Given the description of an element on the screen output the (x, y) to click on. 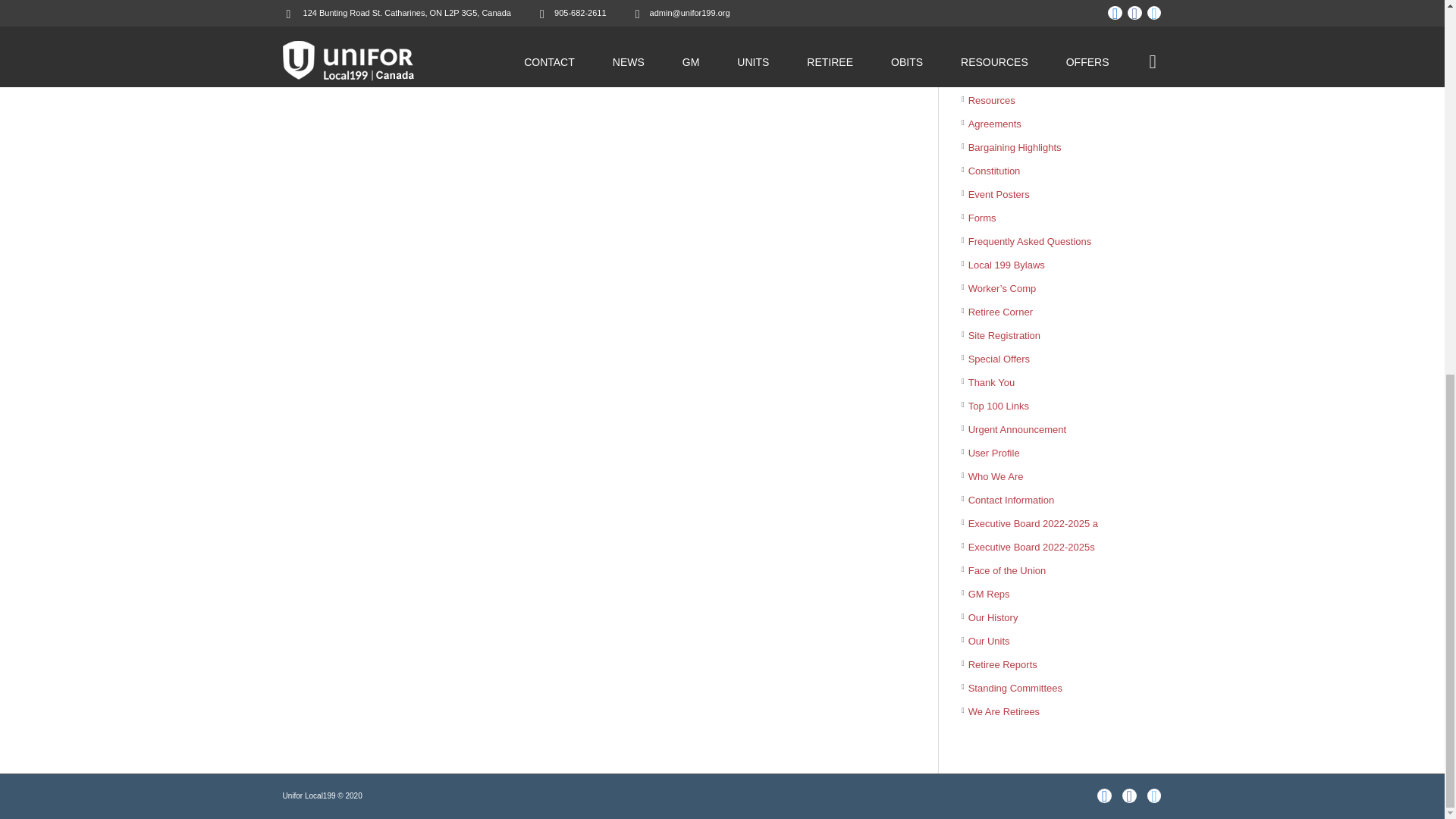
Facebook (1129, 795)
Twitter (1154, 795)
Flickr (1104, 795)
